Given the description of an element on the screen output the (x, y) to click on. 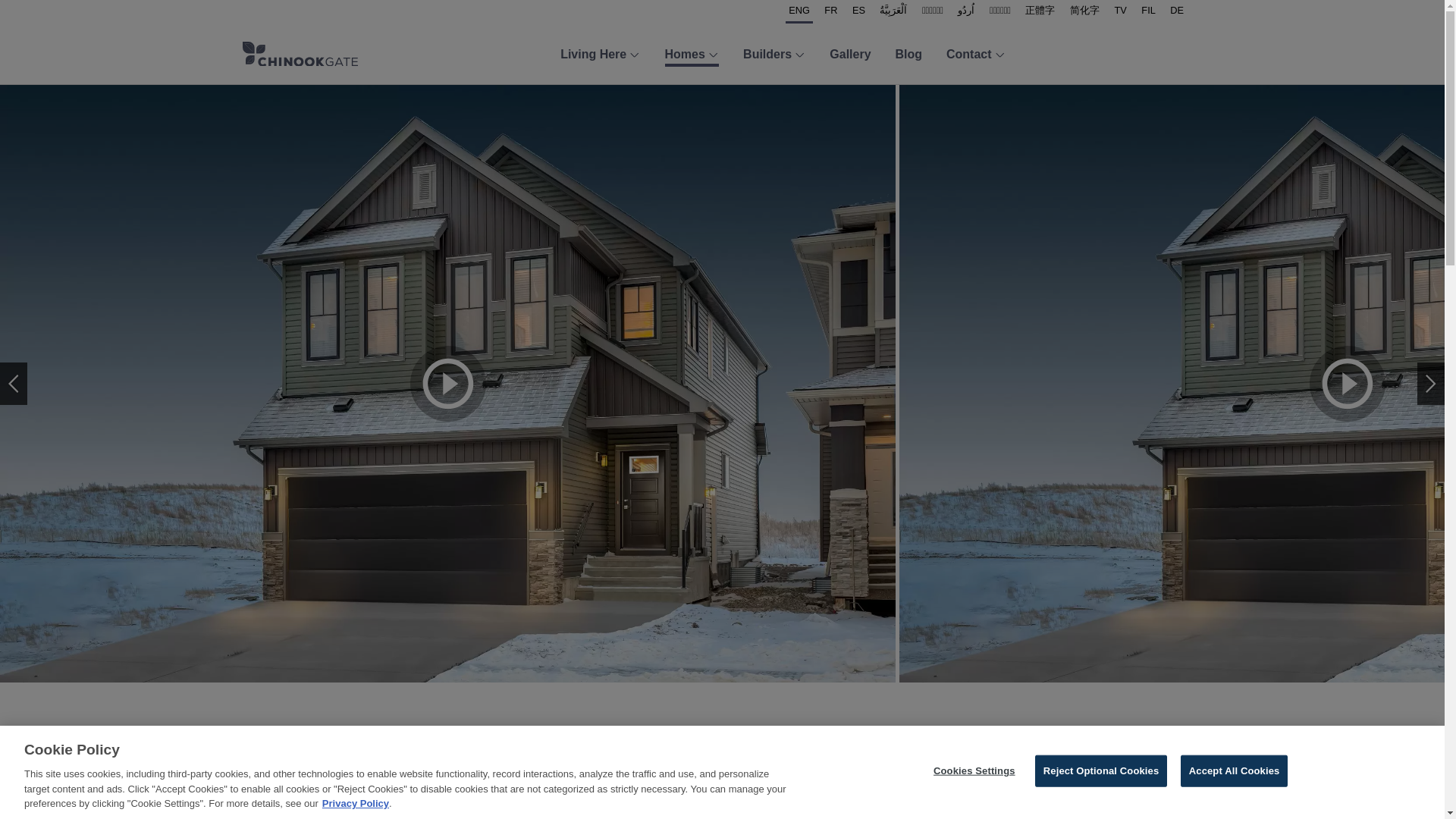
Builders (773, 54)
Homes (691, 54)
ENG (799, 11)
Gallery (849, 54)
Contact (976, 54)
Blog (909, 54)
Living Here (600, 54)
